Given the description of an element on the screen output the (x, y) to click on. 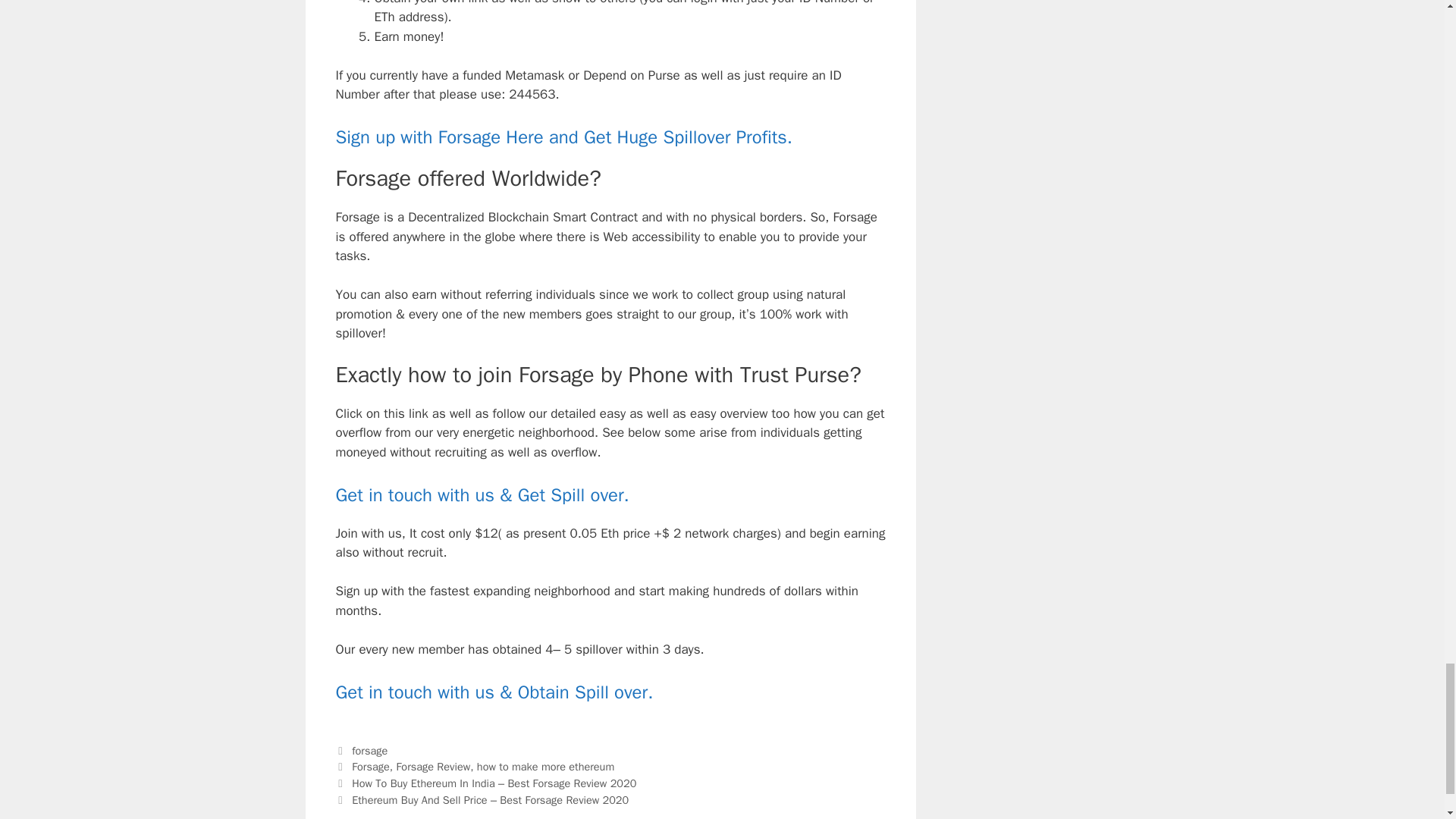
forsage (369, 750)
Forsage Review (433, 766)
how to make more ethereum (545, 766)
Forsage (371, 766)
Sign up with Forsage Here and Get Huge Spillover Profits. (563, 137)
